Given the description of an element on the screen output the (x, y) to click on. 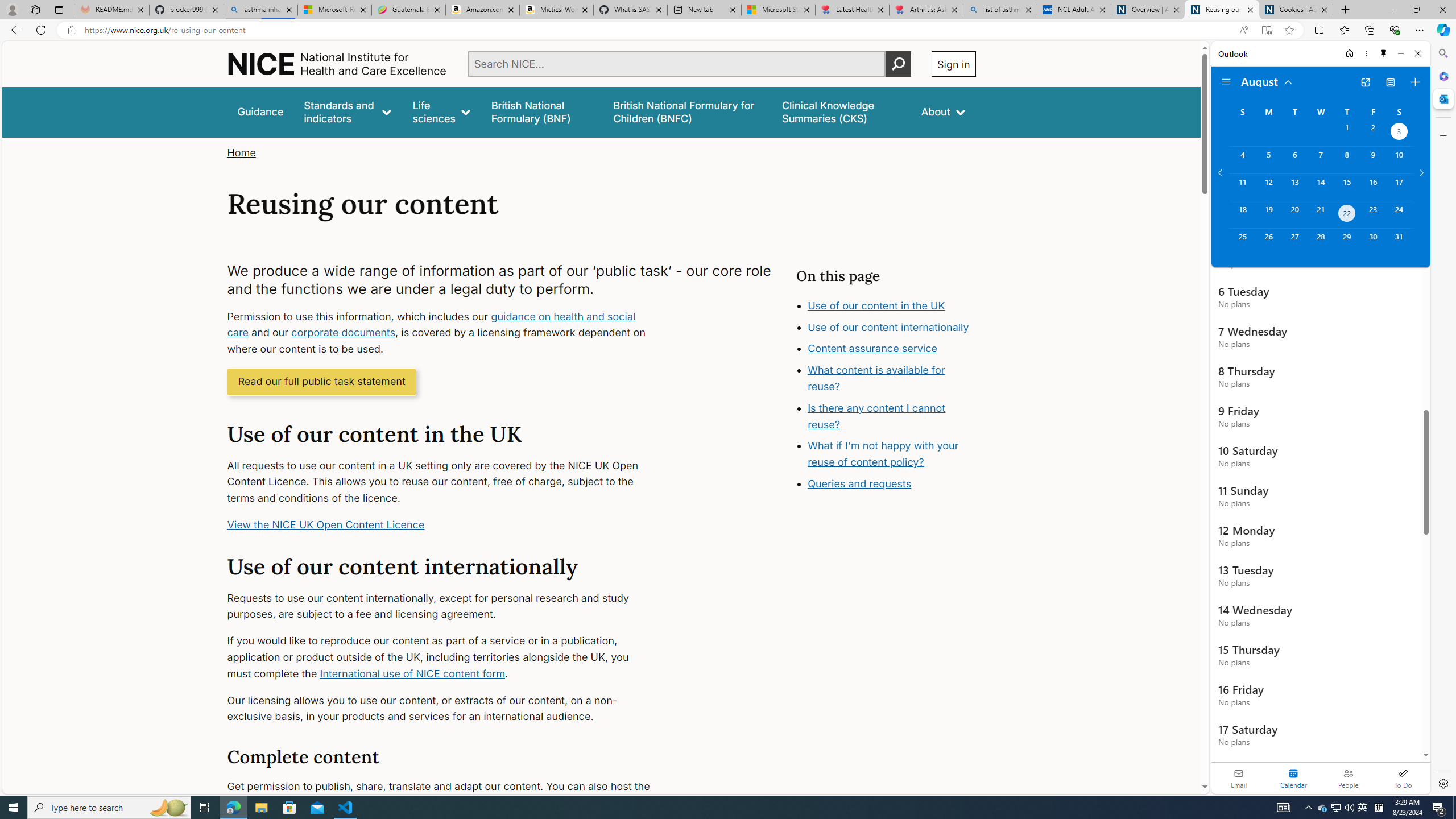
Create event (1414, 82)
Monday, August 26, 2024.  (1268, 241)
Thursday, August 22, 2024. Today.  (1346, 214)
Friday, August 2, 2024.  (1372, 132)
Sunday, August 18, 2024.  (1242, 214)
